Given the description of an element on the screen output the (x, y) to click on. 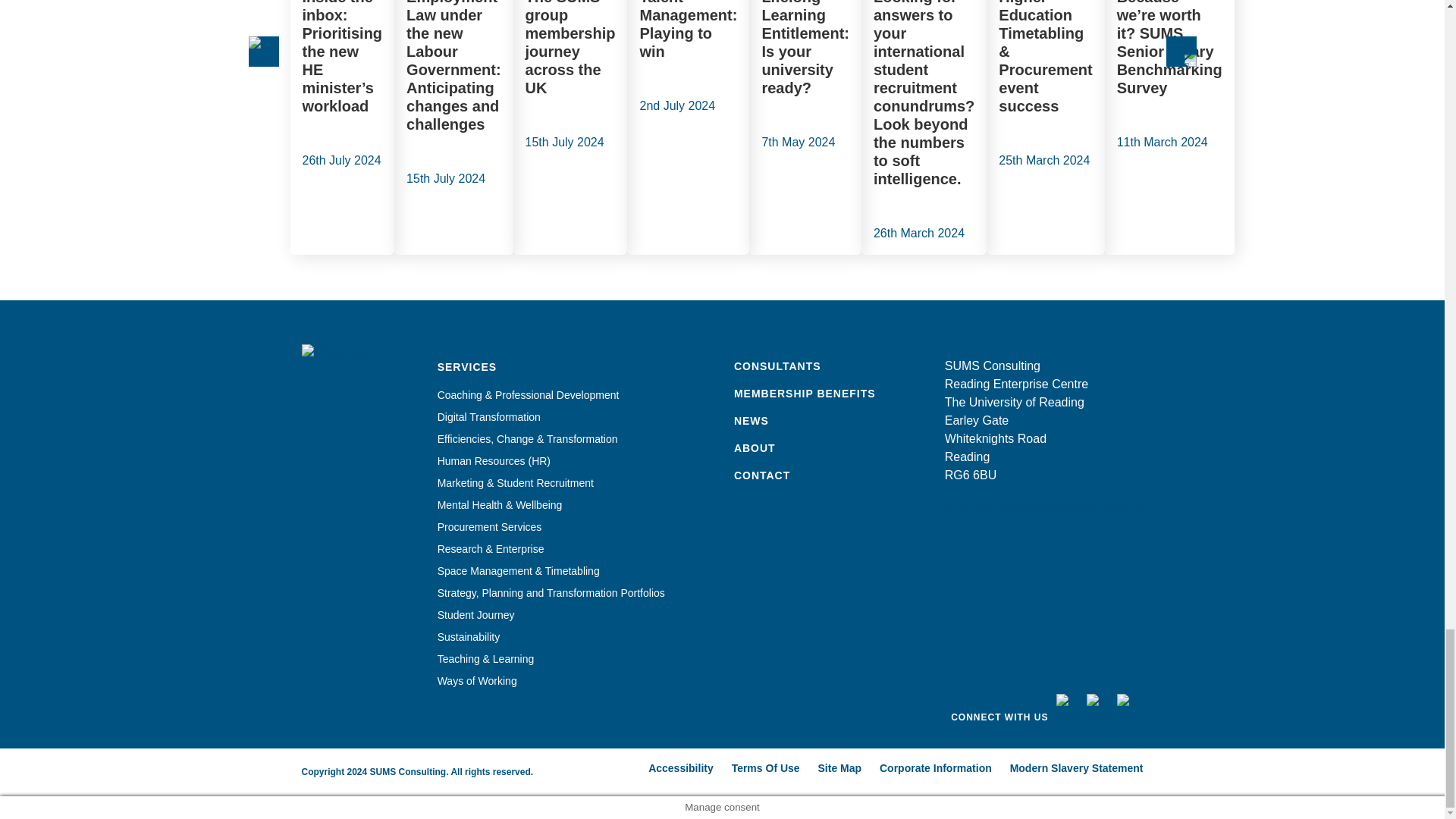
Digital Transformation (489, 417)
